Given the description of an element on the screen output the (x, y) to click on. 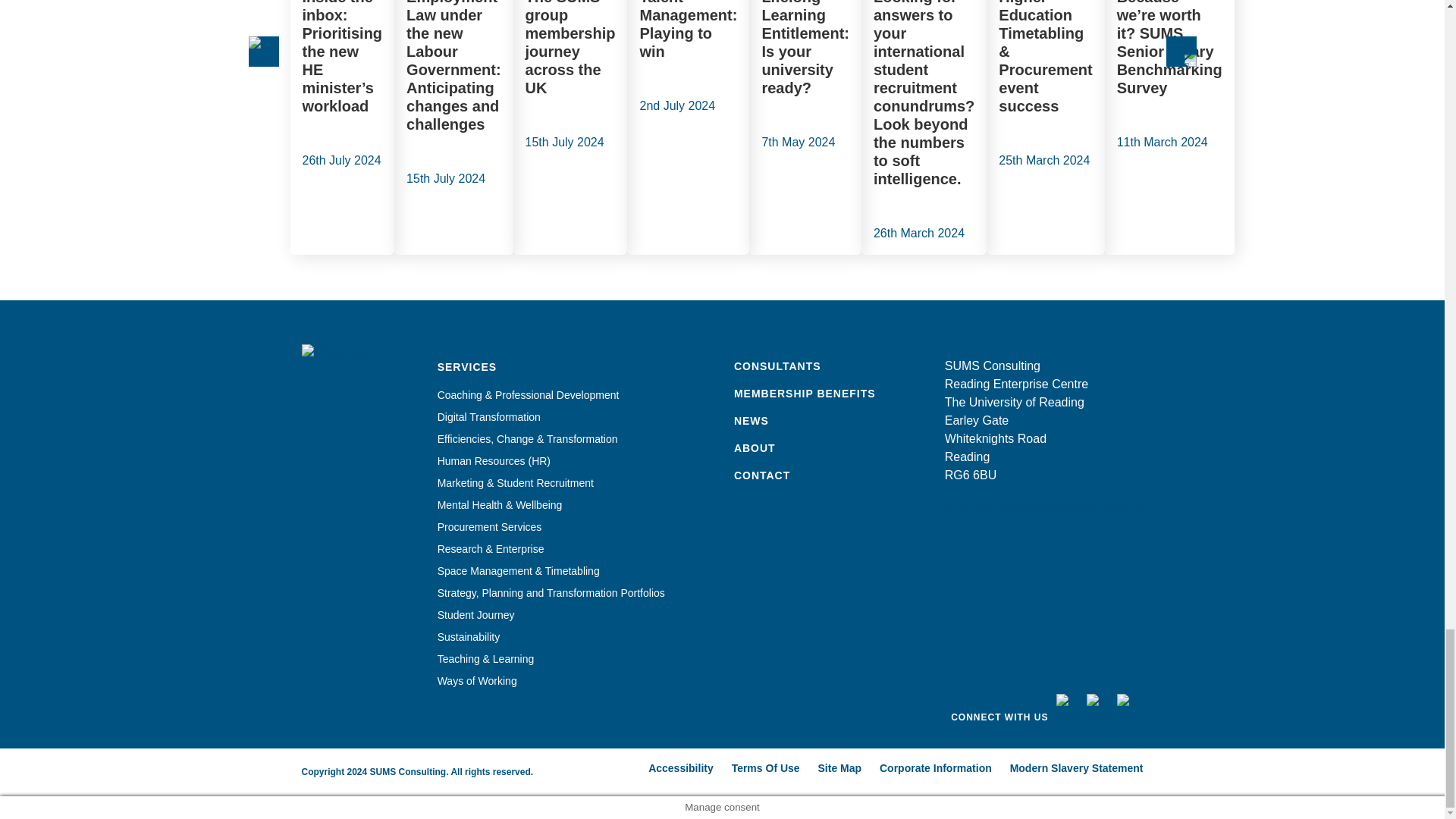
Digital Transformation (489, 417)
